Given the description of an element on the screen output the (x, y) to click on. 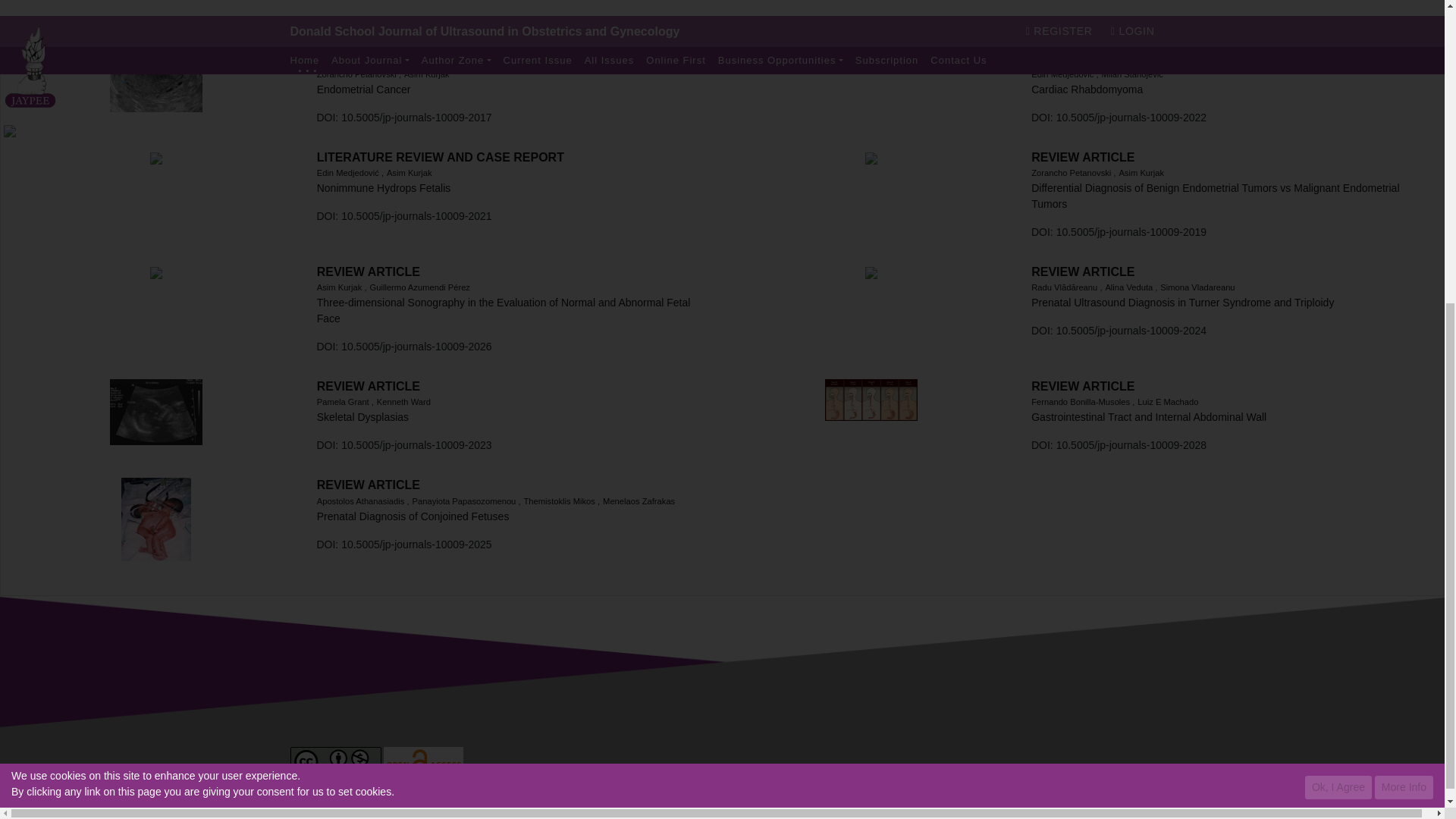
Endometrial Cancer (514, 65)
Endometrial Cancer (156, 80)
Endometrial Cancer (363, 89)
